Given the description of an element on the screen output the (x, y) to click on. 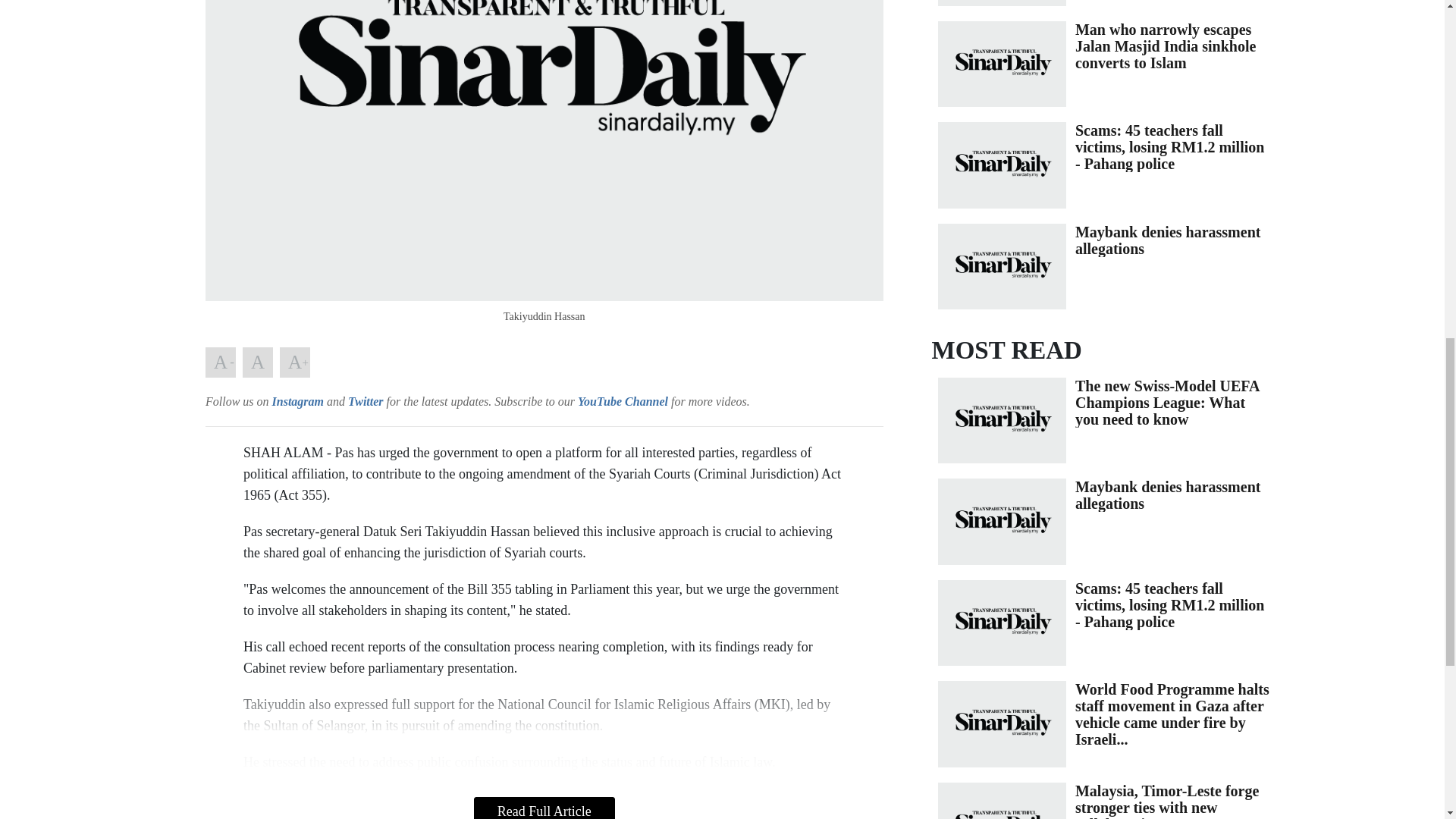
Teks Asal (258, 362)
Teks Besar (294, 362)
Teks Kecil (220, 362)
